Given the description of an element on the screen output the (x, y) to click on. 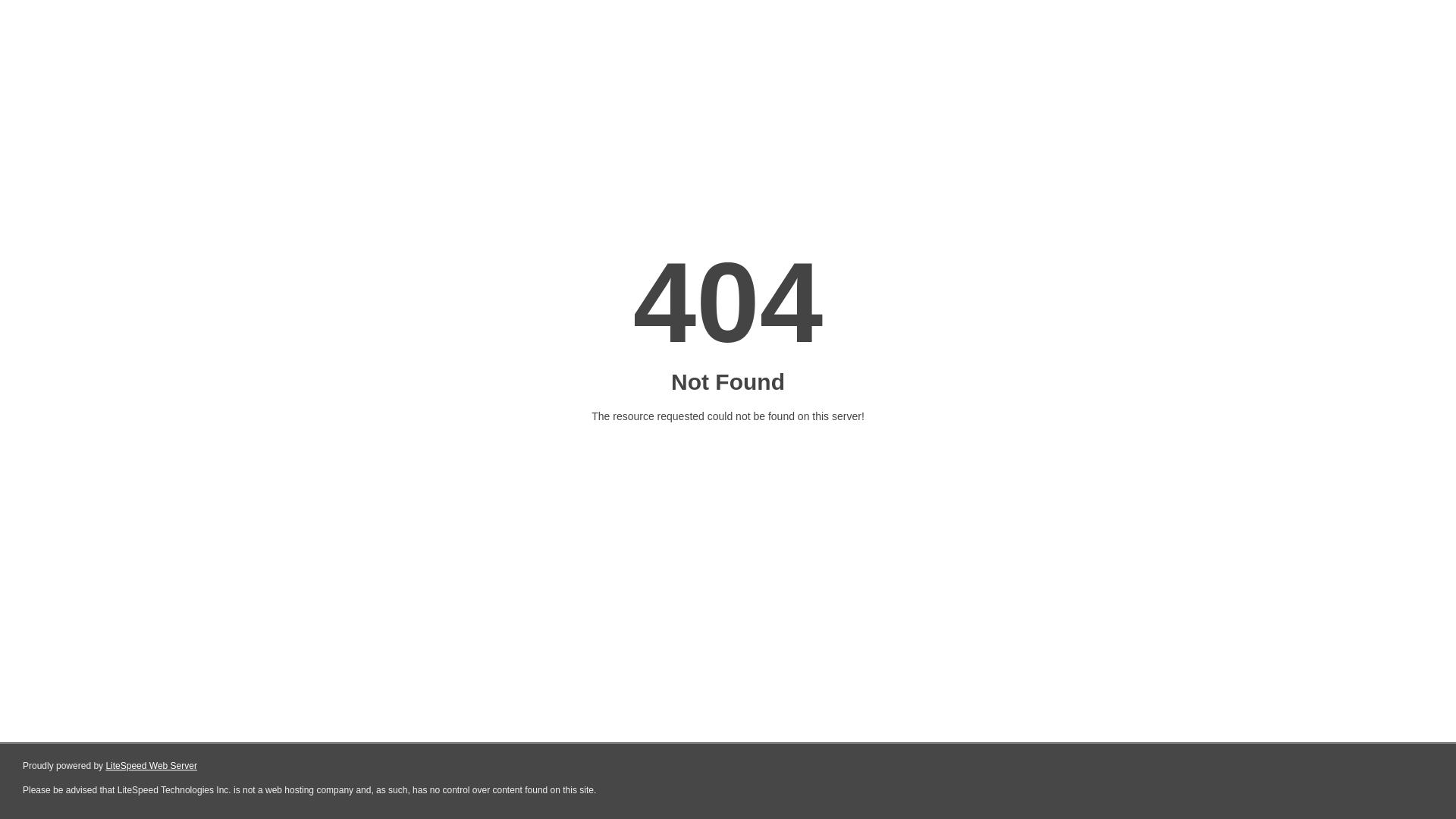
LiteSpeed Web Server (150, 765)
